Given the description of an element on the screen output the (x, y) to click on. 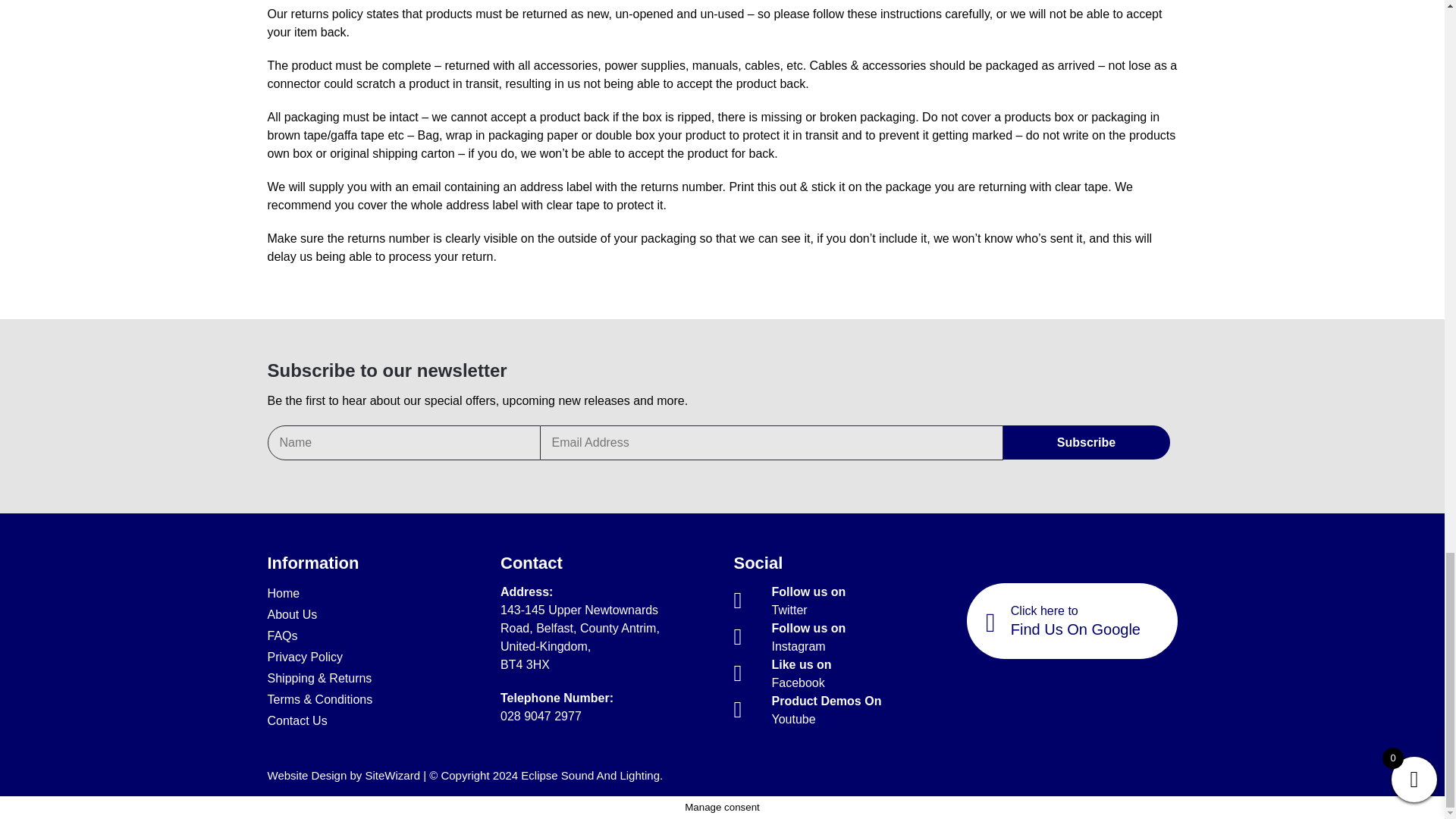
Subscribe (808, 600)
FAQs (1086, 442)
Contact Us (281, 636)
Privacy Policy (296, 721)
028 9047 2977 (801, 673)
Subscribe (304, 657)
Home (540, 716)
